Given the description of an element on the screen output the (x, y) to click on. 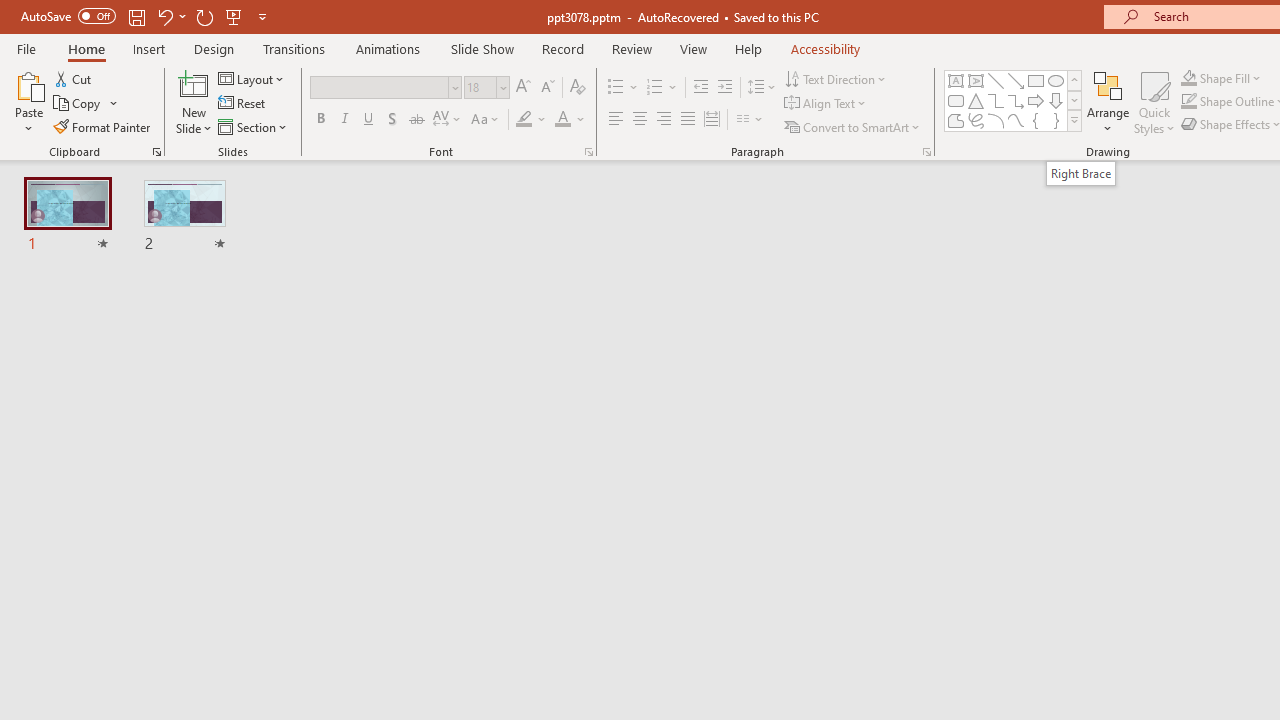
Shape Fill Dark Green, Accent 2 (1188, 78)
